Given the description of an element on the screen output the (x, y) to click on. 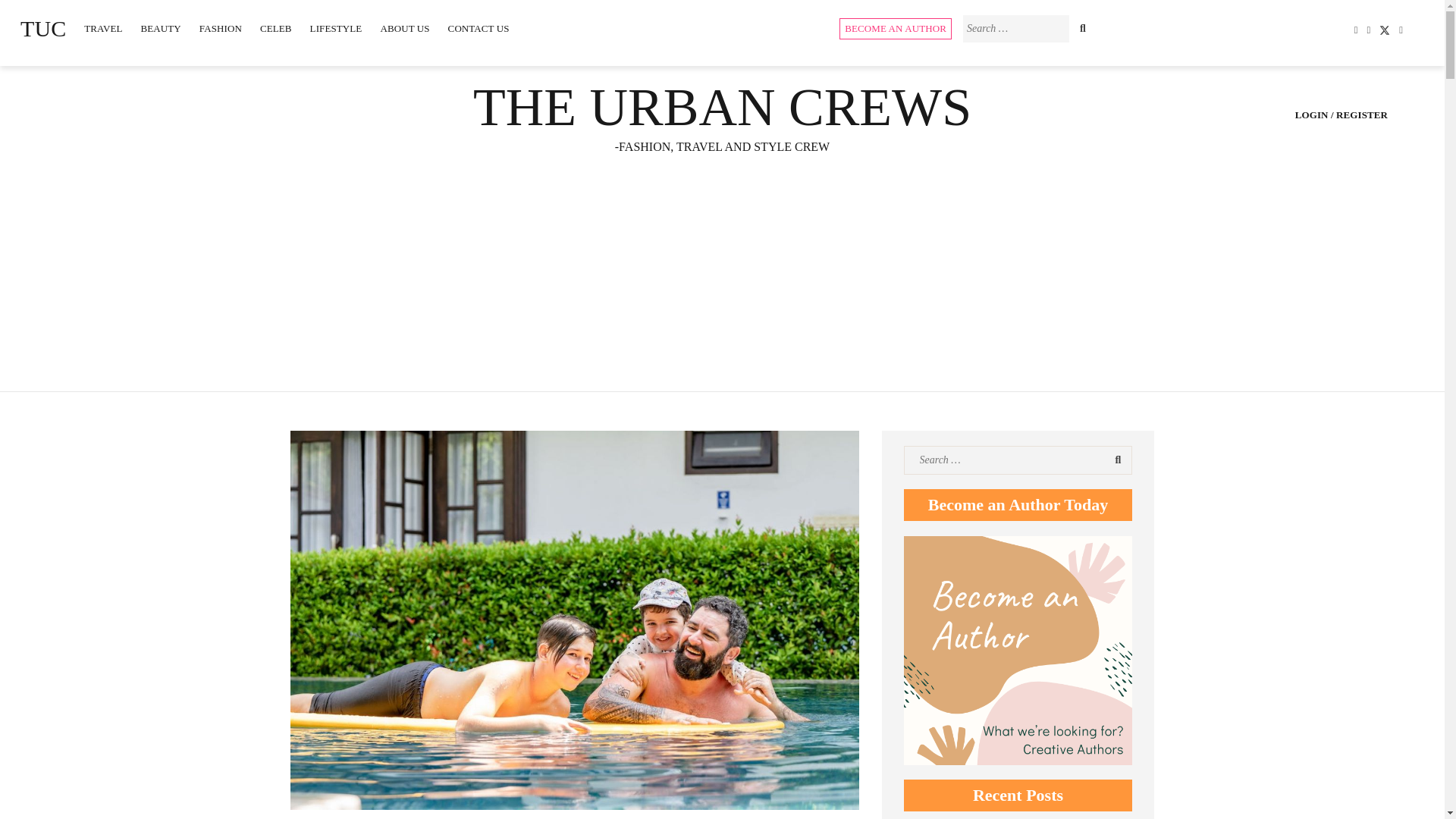
CELEB (275, 28)
CONTACT US (478, 28)
TUC (43, 28)
ABOUT US (404, 28)
THE URBAN CREWS (722, 106)
TRAVEL (103, 28)
BEAUTY (161, 28)
FASHION (220, 28)
LIFESTYLE (336, 28)
BECOME AN AUTHOR (896, 28)
